Given the description of an element on the screen output the (x, y) to click on. 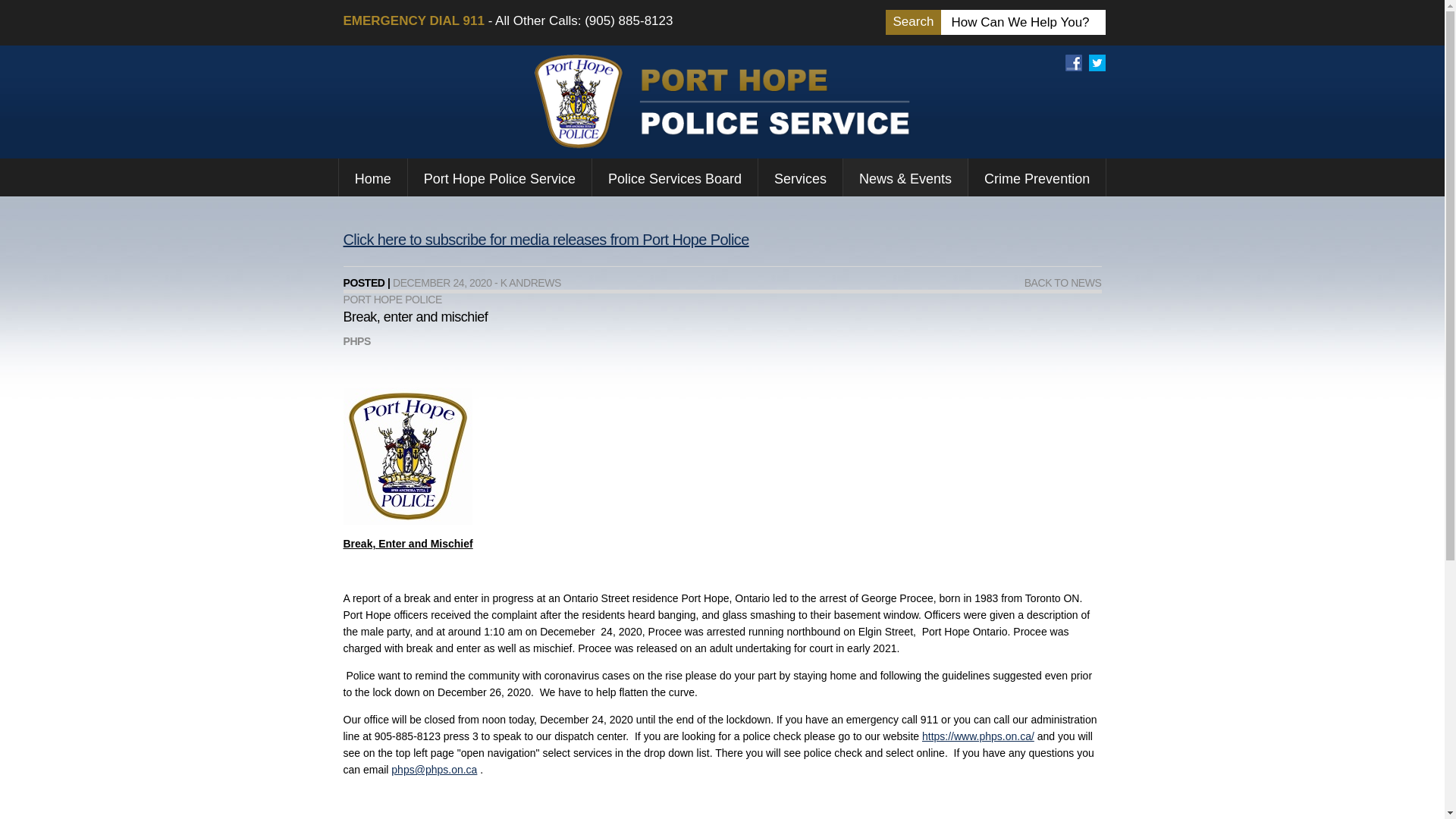
Police Services Board (674, 177)
Search (913, 22)
Subscribe for media releases (545, 239)
Search (913, 22)
Home (373, 177)
Port Hope Police Service (499, 177)
How Can We Help You? (1026, 22)
Services (800, 177)
How Can We Help You? (1026, 22)
Search (913, 22)
